Given the description of an element on the screen output the (x, y) to click on. 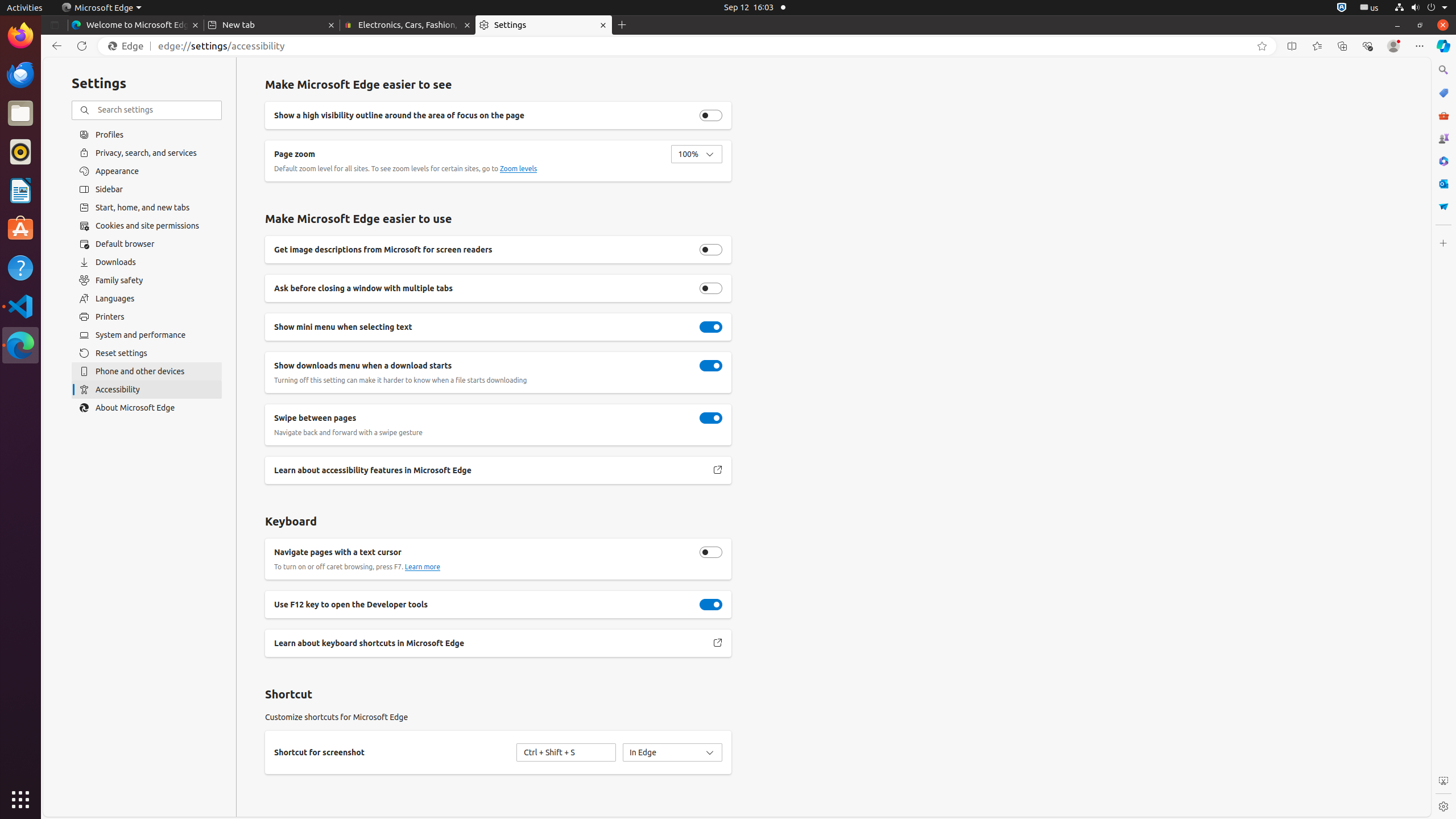
Downloads Element type: tree-item (146, 262)
Screenshot Element type: push-button (1443, 780)
Default browser Element type: tree-item (146, 243)
Page zoom 100% Element type: push-button (696, 154)
Settings Element type: page-tab (543, 25)
